Given the description of an element on the screen output the (x, y) to click on. 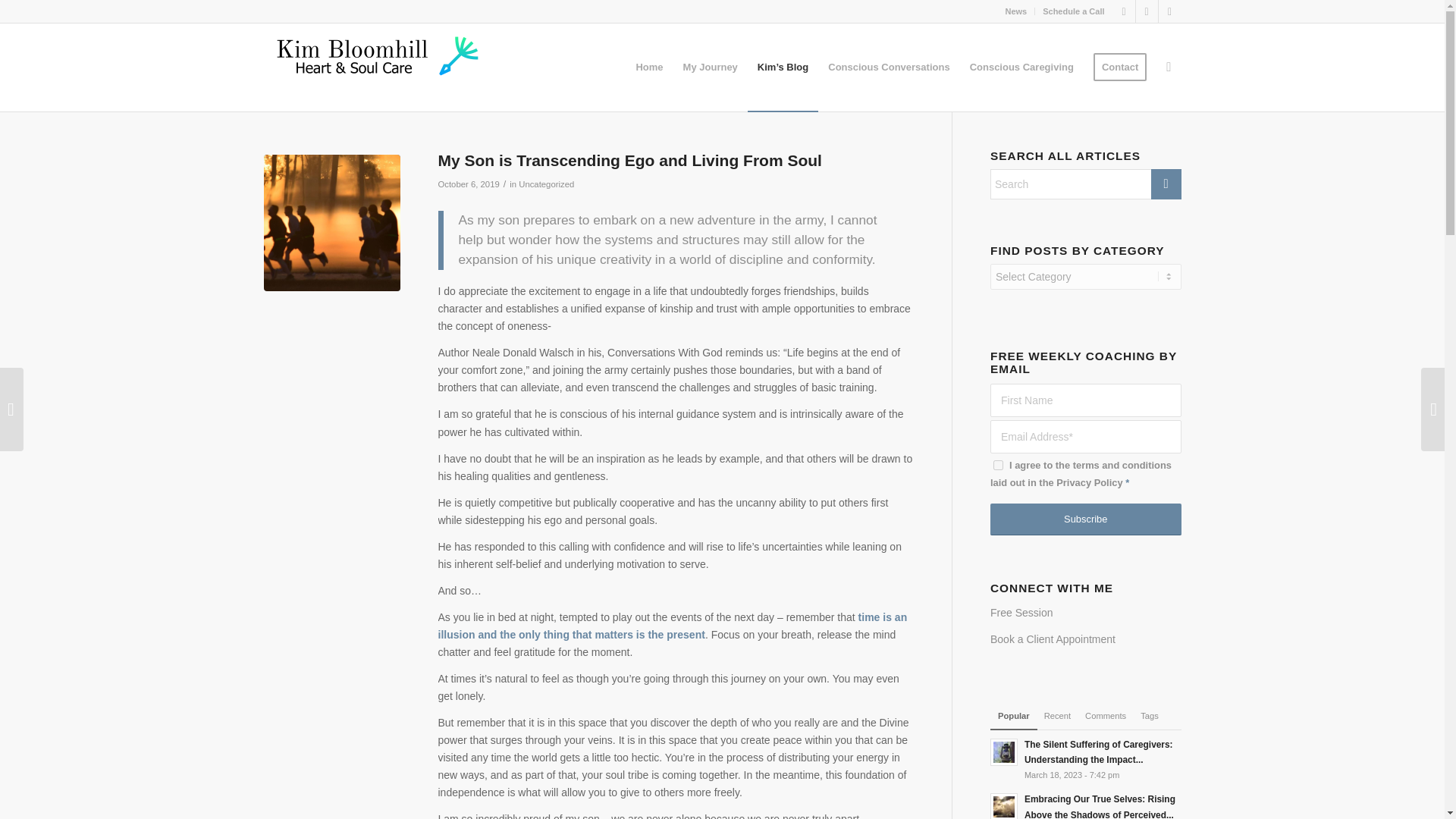
LinkedIn (1146, 11)
Uncategorized (545, 184)
Facebook (1124, 11)
true (997, 465)
Conscious Conversations (888, 67)
News (1015, 11)
Mail (1169, 11)
Conscious Caregiving (1021, 67)
Heart and Soul Soldier Army Training (331, 222)
Subscribe (1085, 519)
Schedule a Call (1072, 11)
